Given the description of an element on the screen output the (x, y) to click on. 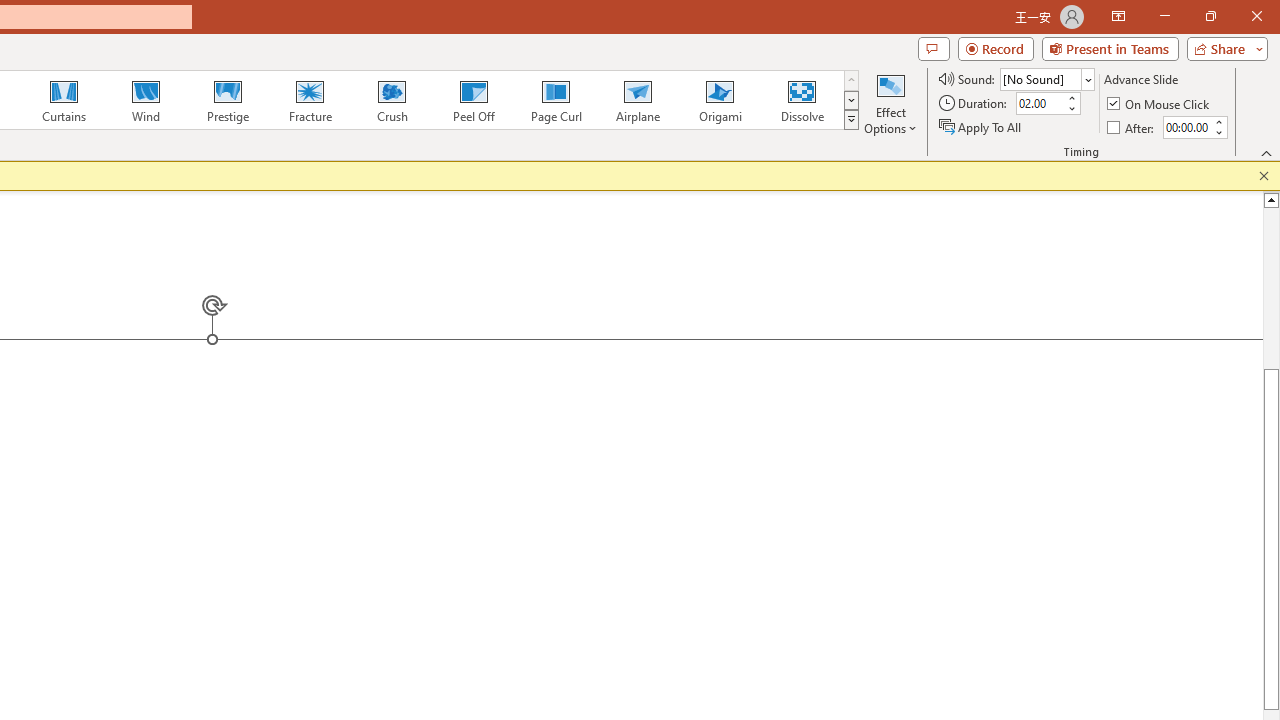
On Mouse Click (1159, 103)
Row Down (850, 100)
Peel Off (473, 100)
Open (1087, 79)
Page Curl (555, 100)
Dissolve (802, 100)
Origami (719, 100)
Close this message (1263, 176)
Duration (1039, 103)
Wind (145, 100)
